Given the description of an element on the screen output the (x, y) to click on. 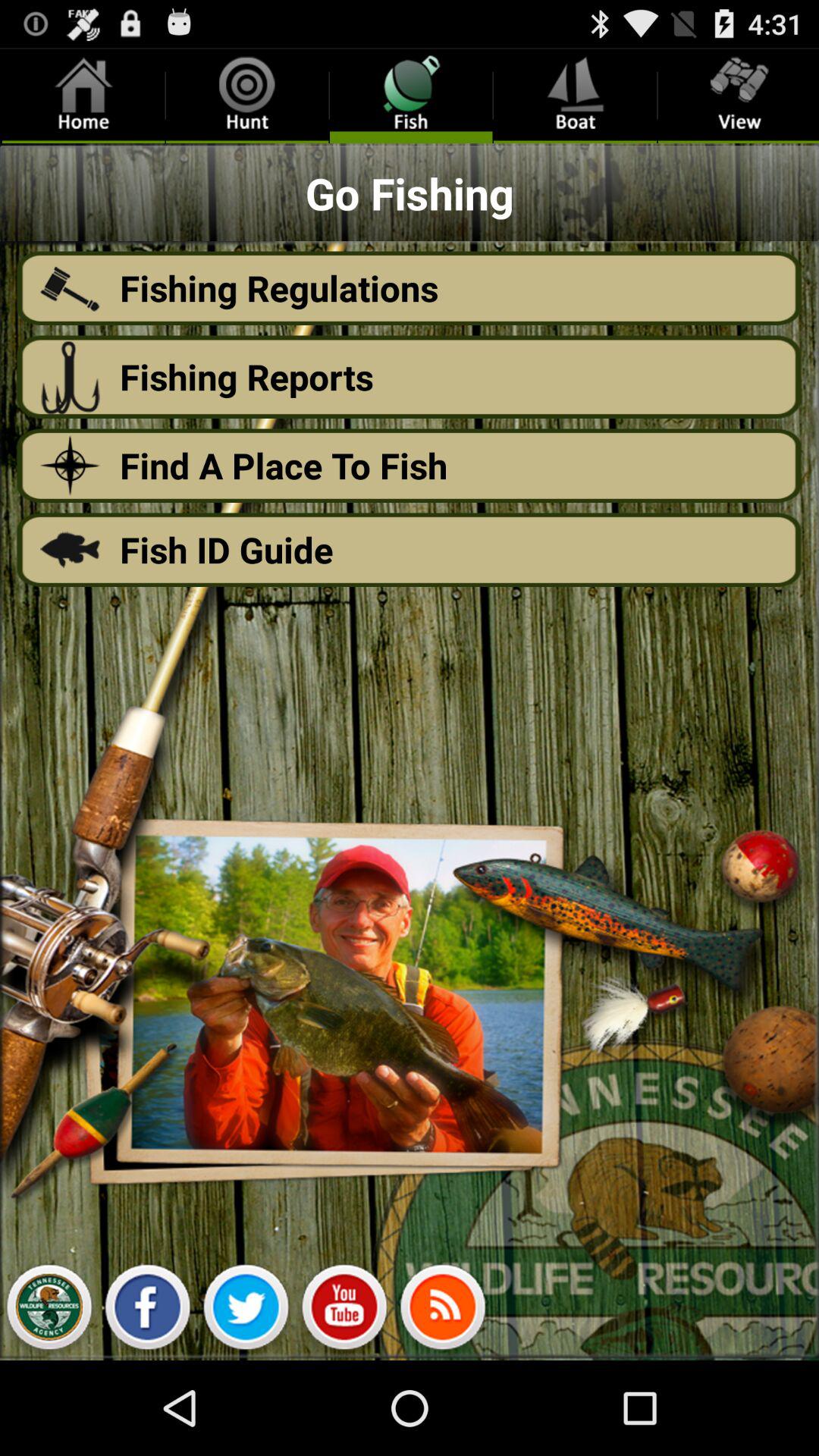
volume raise (442, 1311)
